Given the description of an element on the screen output the (x, y) to click on. 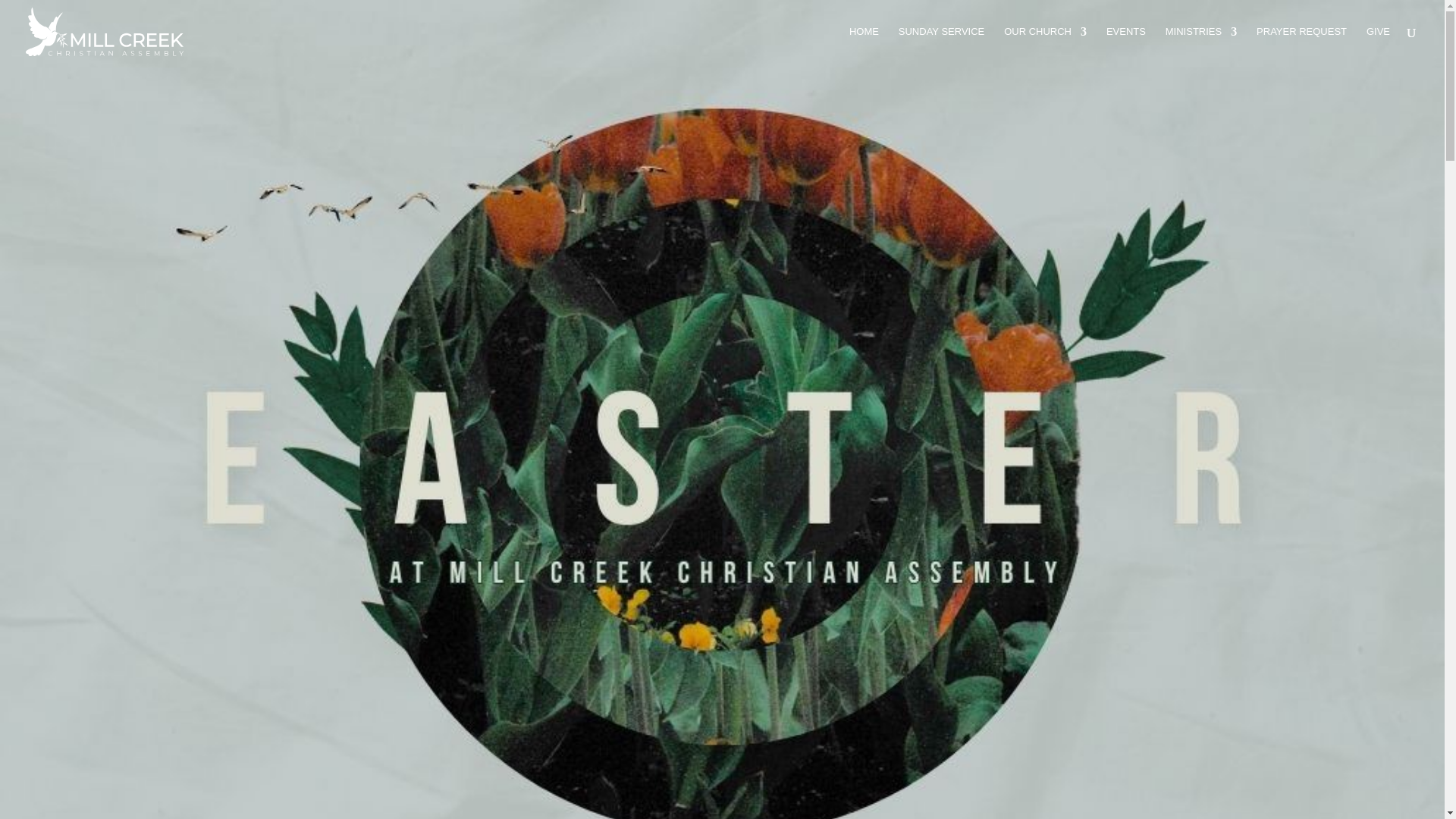
EVENTS (1125, 44)
SUNDAY SERVICE (941, 44)
OUR CHURCH (1045, 44)
MINISTRIES (1201, 44)
PRAYER REQUEST (1301, 44)
